Given the description of an element on the screen output the (x, y) to click on. 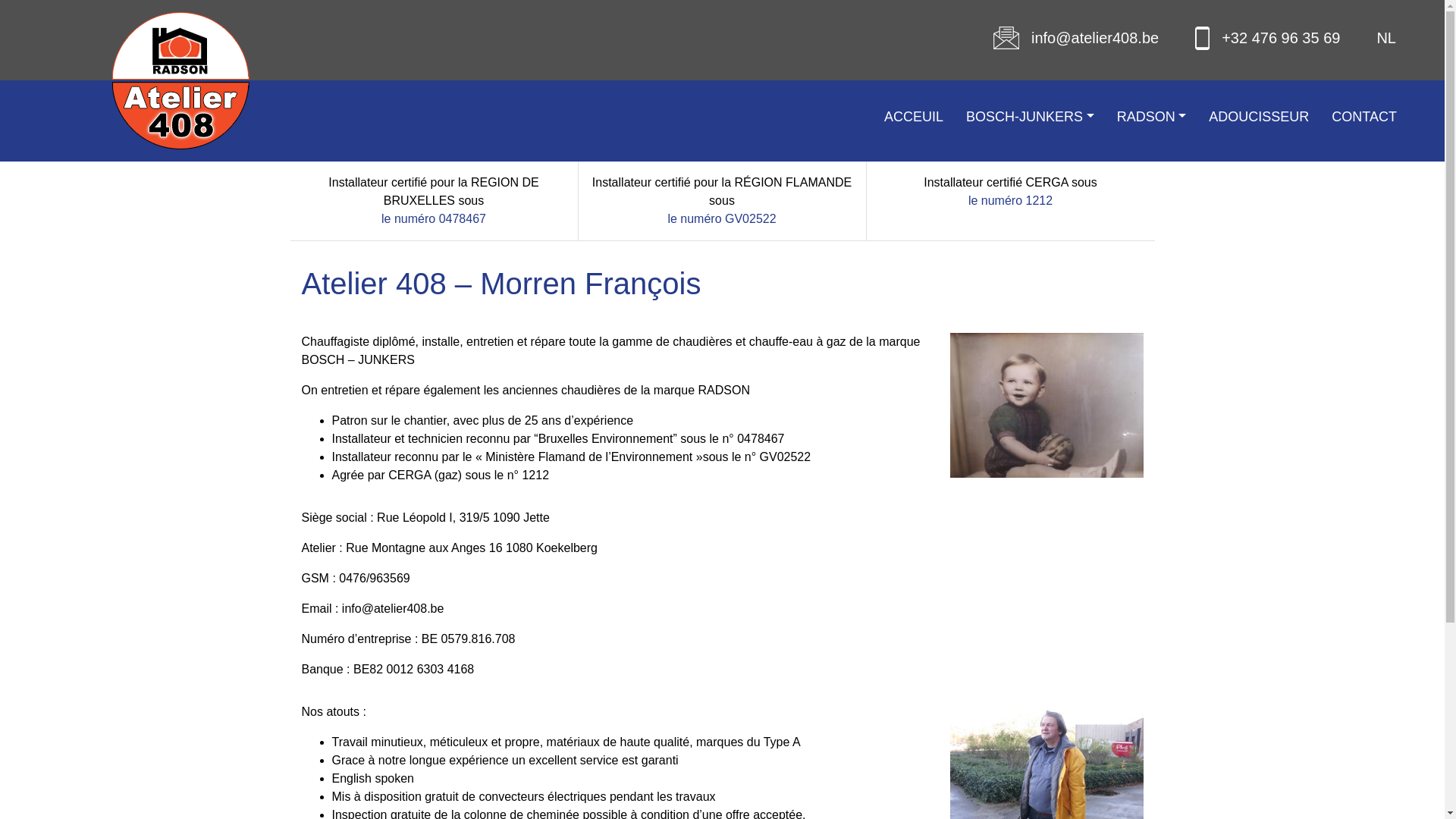
info@atelier408.be Element type: text (393, 608)
info@atelier408.be Element type: text (1094, 37)
ADOUCISSEUR Element type: text (1258, 116)
NL Element type: text (1386, 37)
CONTACT Element type: text (1364, 116)
0476/963569 Element type: text (373, 577)
+32 476 96 35 69 Element type: text (1280, 37)
RADSON Element type: text (1151, 116)
ACCEUIL Element type: text (913, 116)
BOSCH-JUNKERS Element type: text (1029, 116)
